Given the description of an element on the screen output the (x, y) to click on. 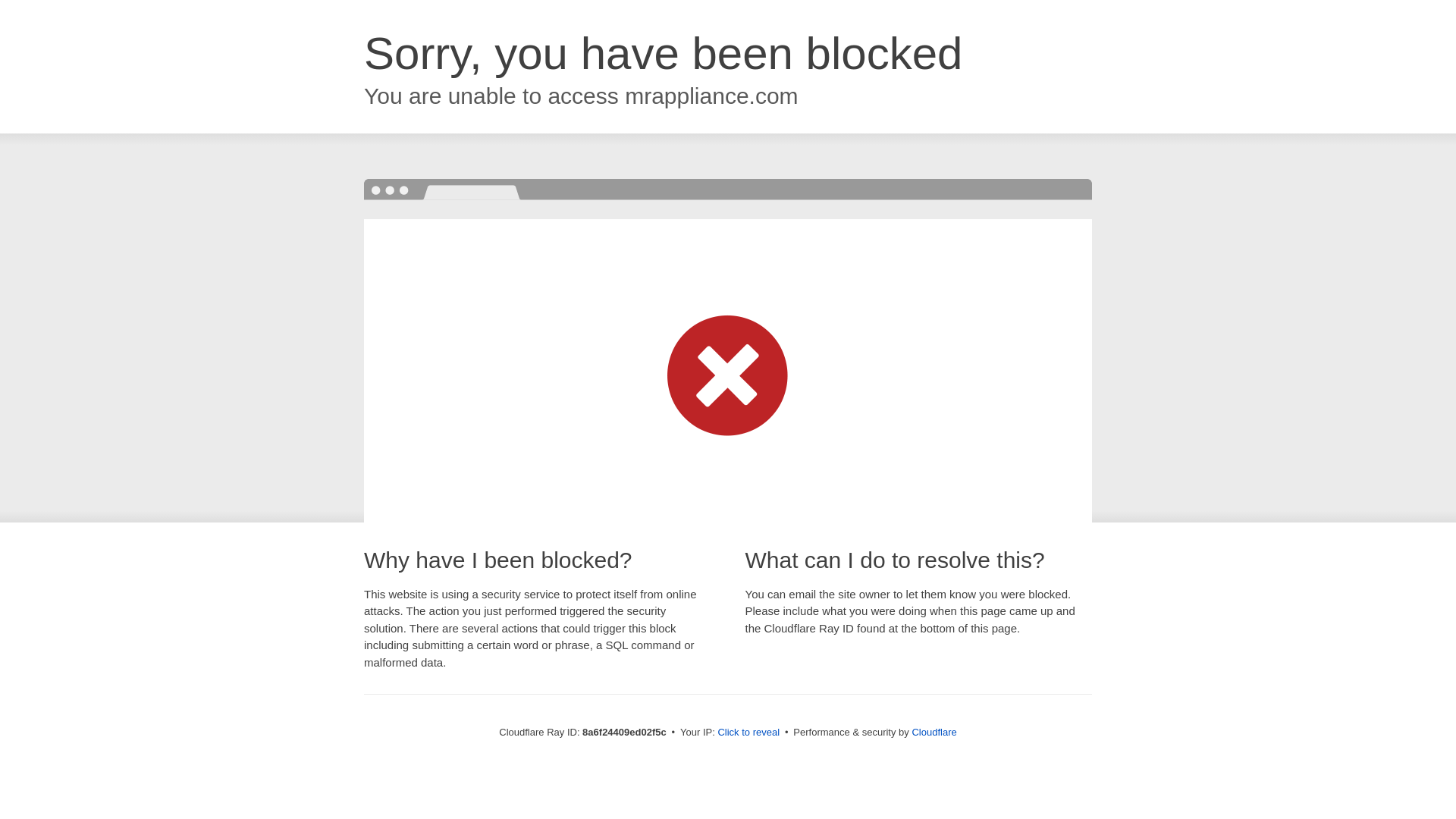
Cloudflare (933, 731)
Click to reveal (747, 732)
